Given the description of an element on the screen output the (x, y) to click on. 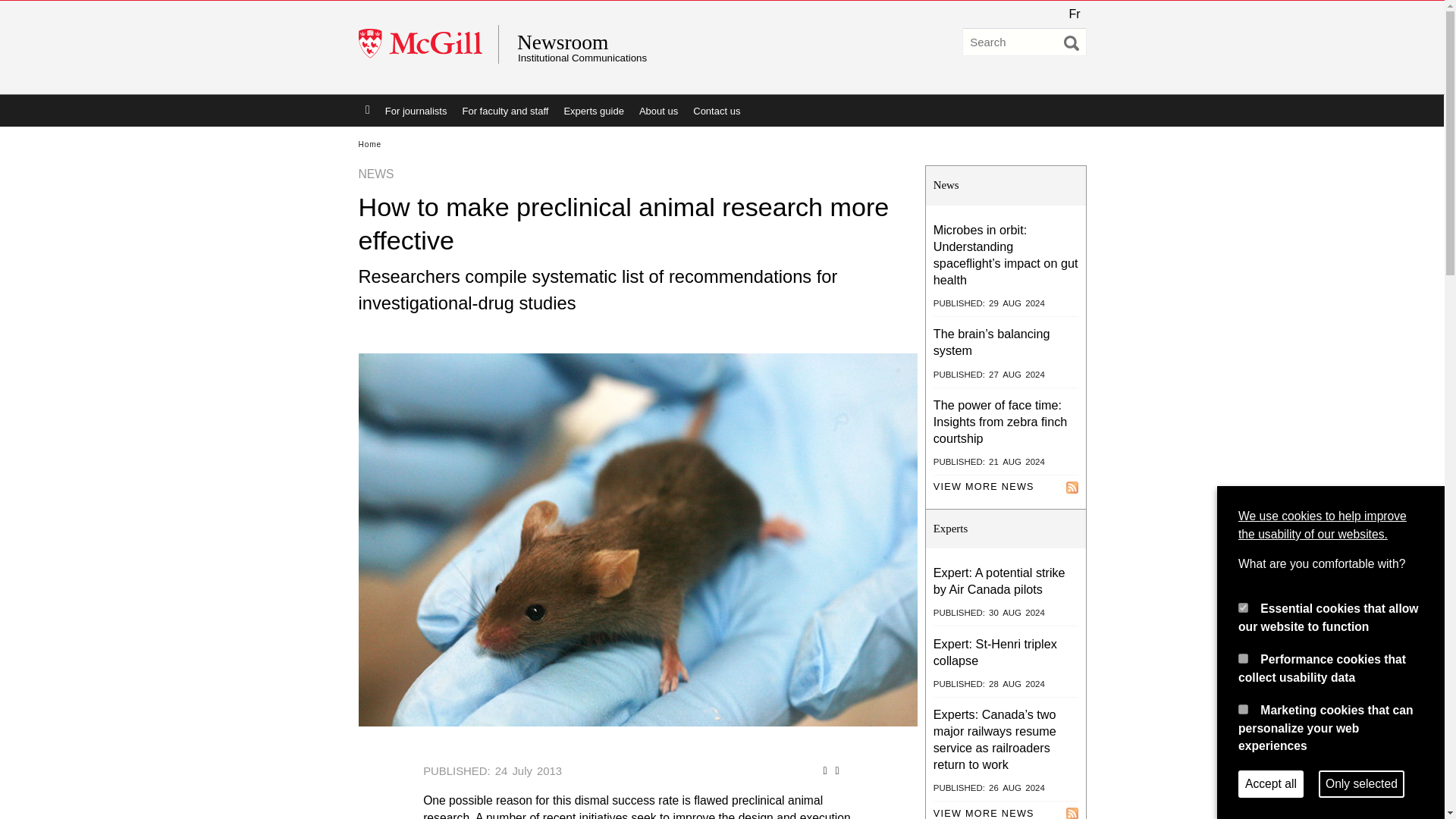
VIEW MORE NEWS (983, 810)
Home (369, 144)
Expert: A potential strike by Air Canada pilots (999, 580)
McGill distributed content (983, 487)
return to McGill University (427, 44)
McGill distributed content (983, 810)
VIEW MORE NEWS (983, 487)
Newsroom (664, 42)
Search (1070, 42)
For faculty and staff (505, 110)
